Given the description of an element on the screen output the (x, y) to click on. 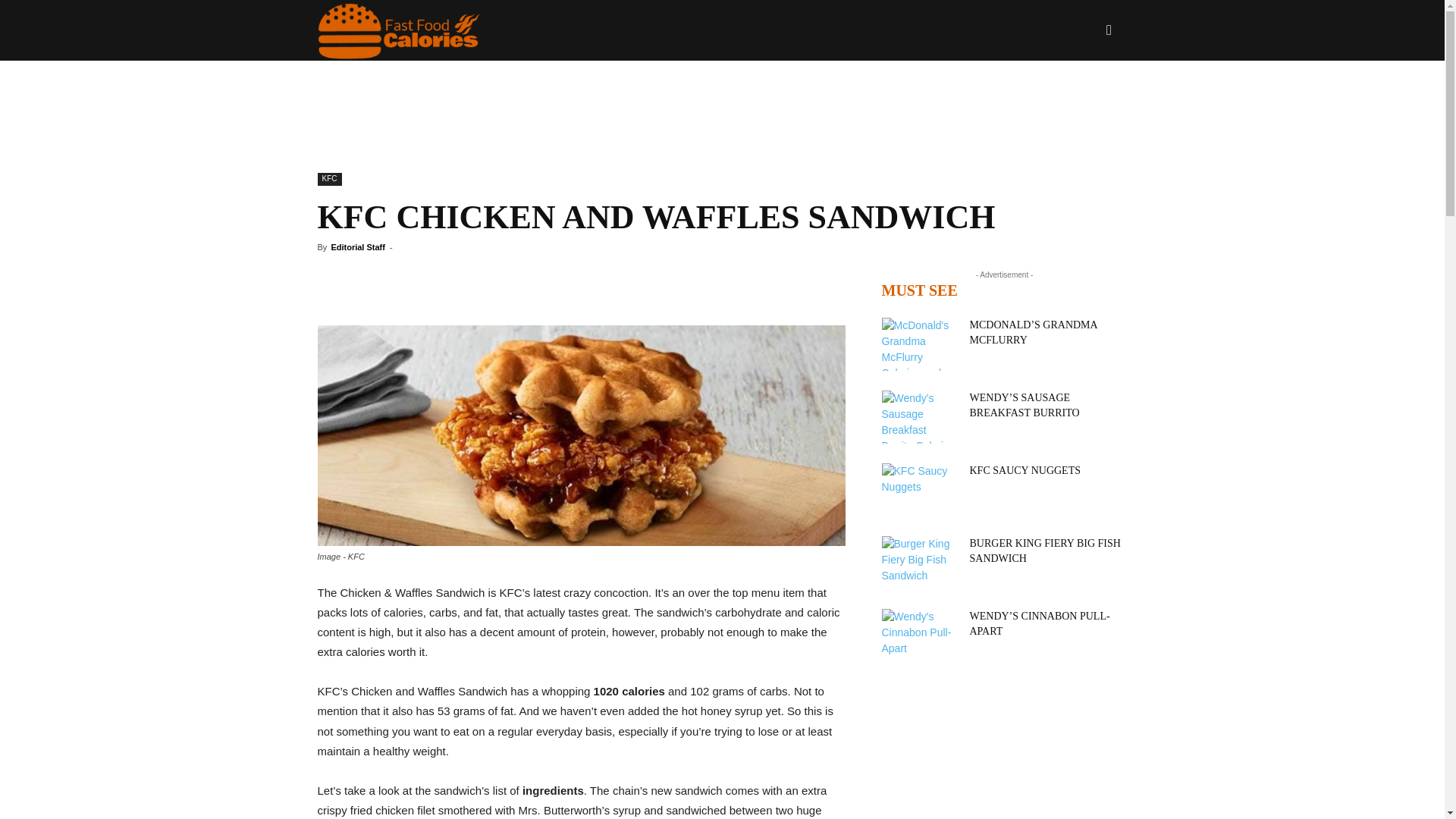
Fast Food Calories (398, 30)
HOME (475, 90)
BURGER KING (569, 90)
Search (1085, 102)
